Given the description of an element on the screen output the (x, y) to click on. 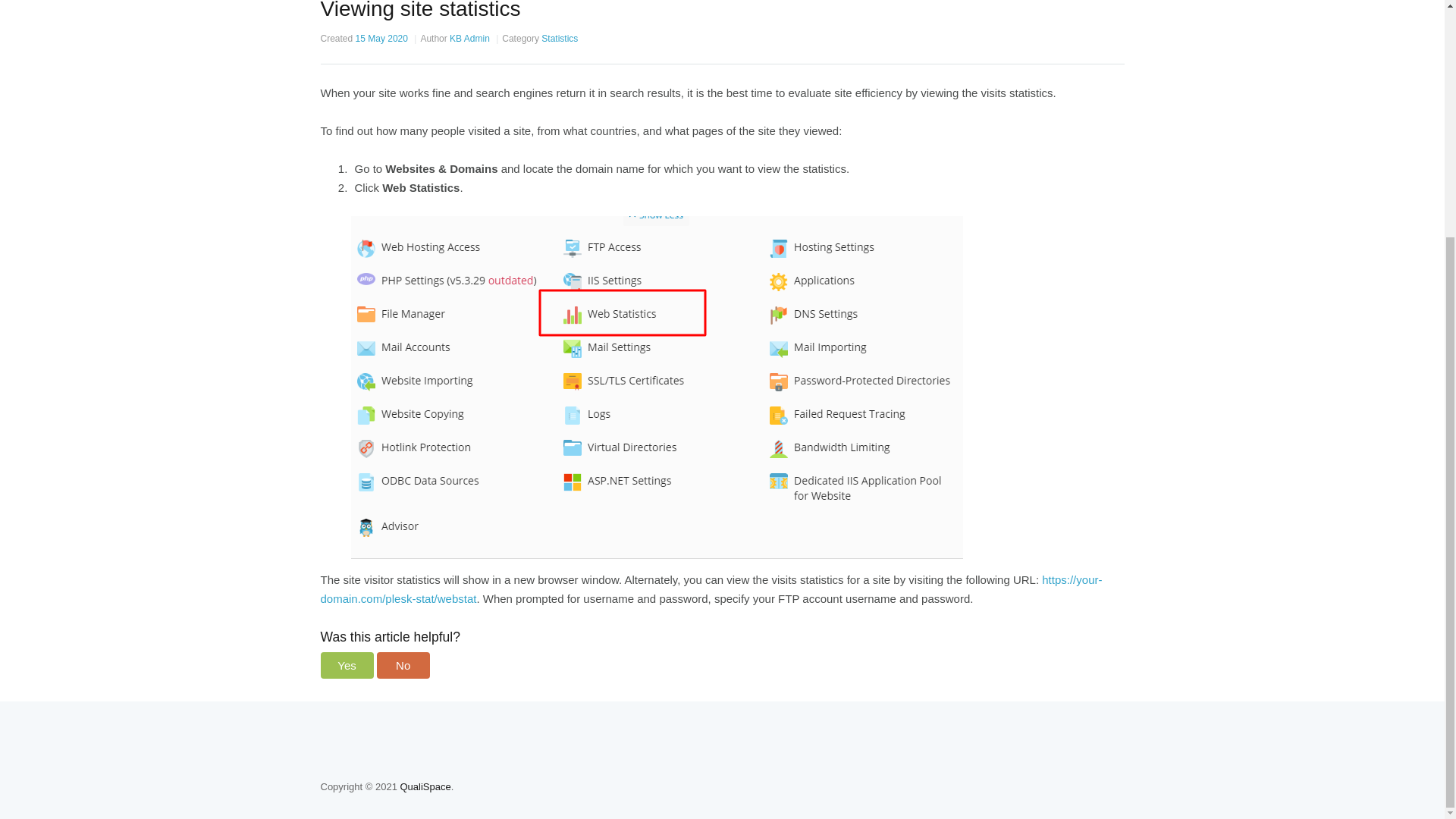
No (403, 664)
Yes (346, 664)
QualiSpace (423, 786)
Statistics (559, 38)
15 May 2020 (381, 38)
KB Admin (469, 38)
KB Admin (469, 38)
